Given the description of an element on the screen output the (x, y) to click on. 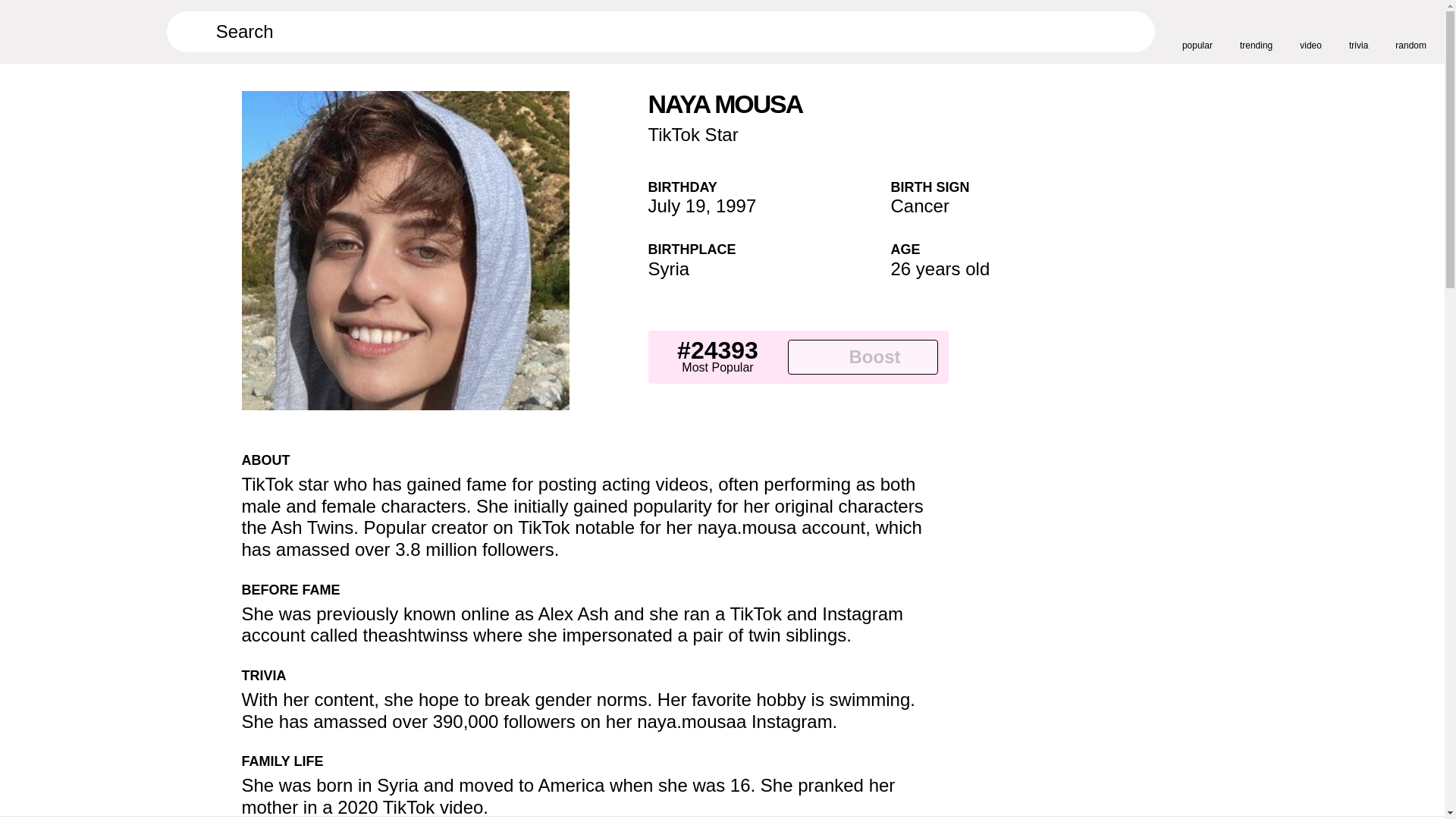
Send Suggestion (932, 466)
1997 (735, 205)
Cancer (919, 205)
random (1410, 31)
Syria (667, 268)
trivia (1358, 31)
random (1410, 31)
video (1311, 31)
popular (1197, 31)
trivia (1358, 31)
video (1311, 31)
July 19 (675, 205)
trending (1256, 31)
26 years old (939, 268)
TikTok Star (692, 134)
